Given the description of an element on the screen output the (x, y) to click on. 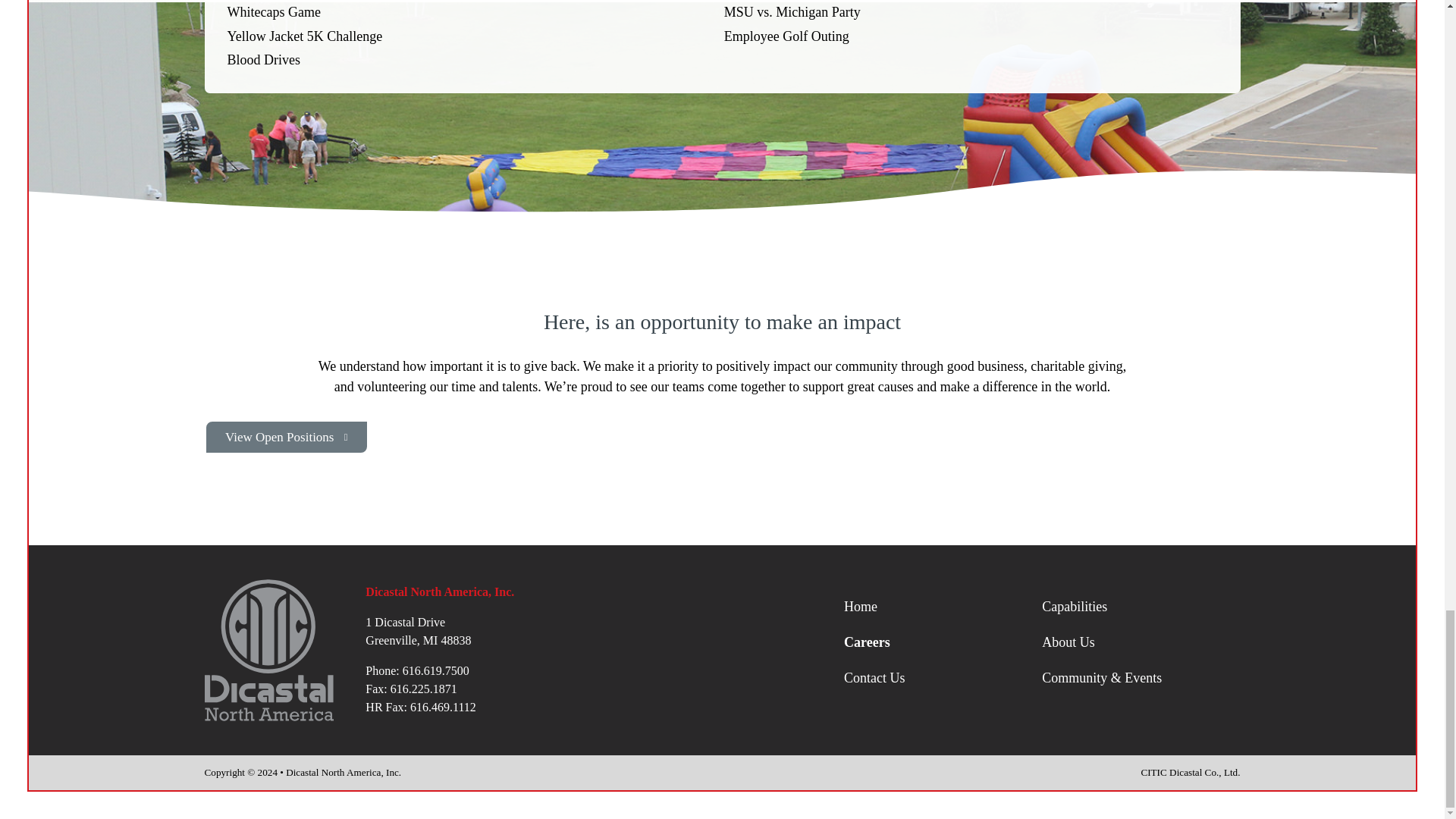
Home (943, 607)
Careers (943, 642)
Capabilities (1141, 607)
About Us (1141, 642)
Contact Us (943, 678)
View Open Positions (286, 437)
